Given the description of an element on the screen output the (x, y) to click on. 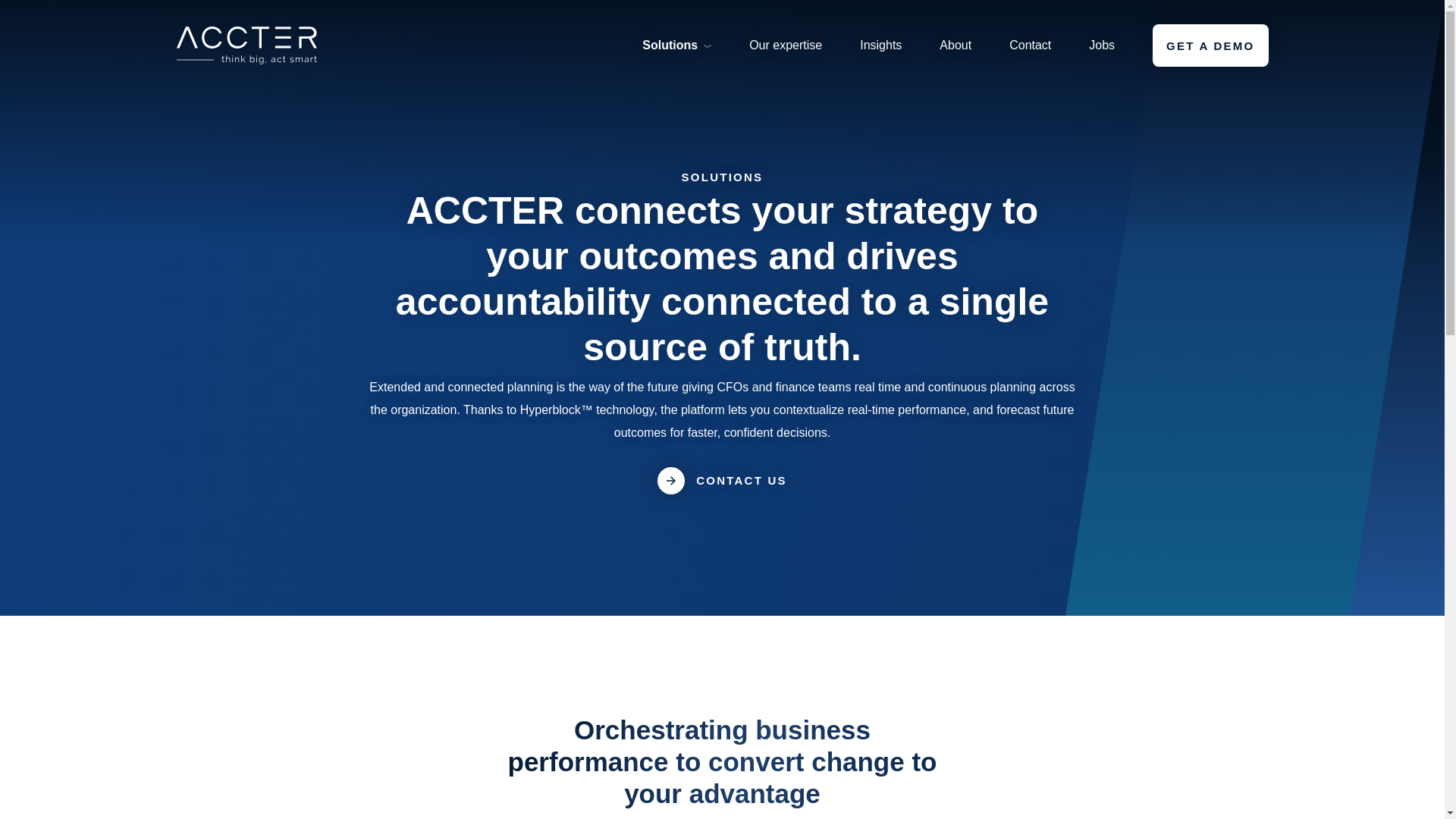
Jobs (1102, 45)
Contact (1030, 45)
Our expertise (785, 45)
Insights (880, 45)
CONTACT US (722, 480)
GET A DEMO (1210, 45)
About (955, 45)
Solutions (676, 45)
